Given the description of an element on the screen output the (x, y) to click on. 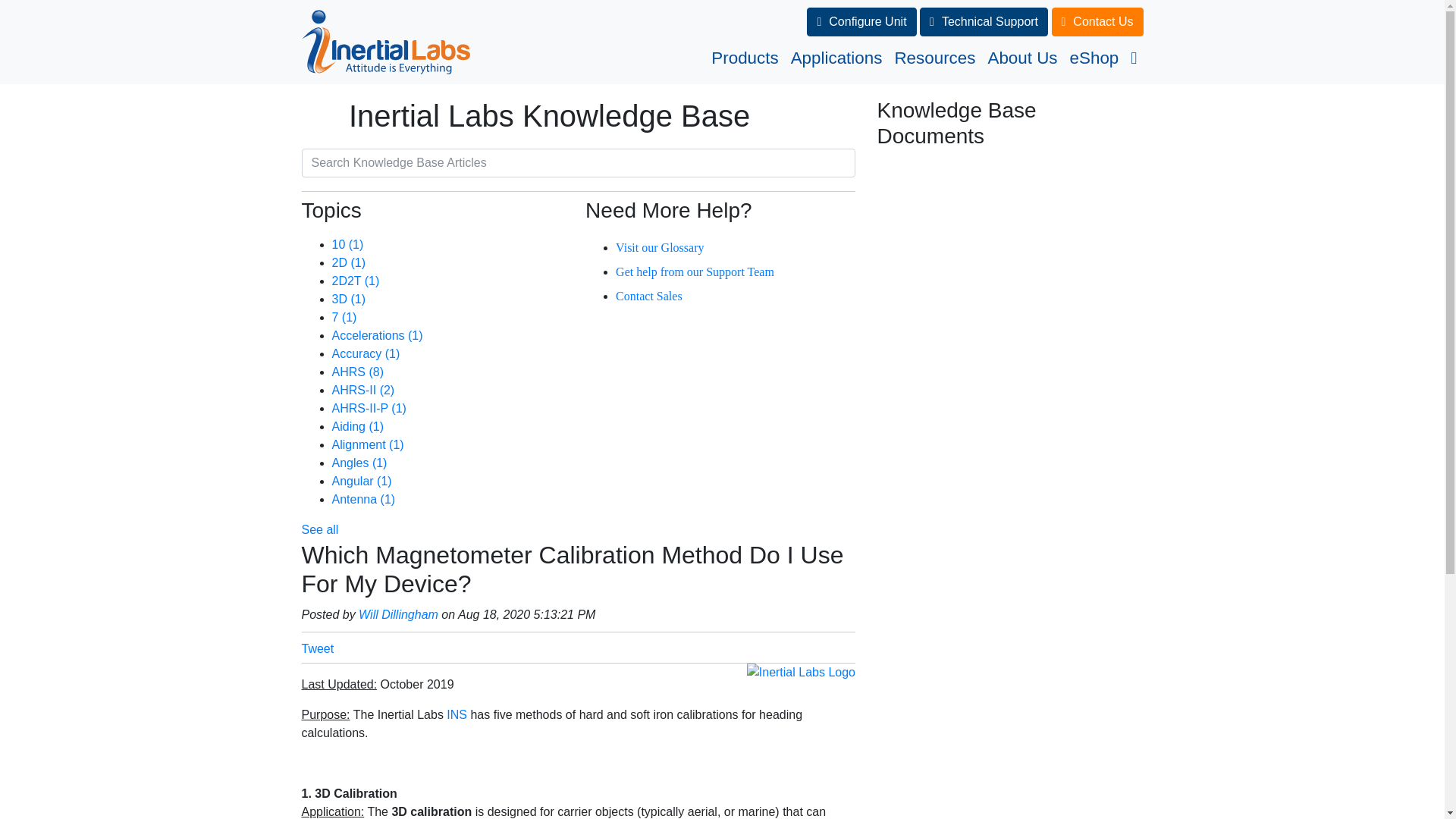
Applications (836, 57)
Products (744, 57)
Contact Us (1096, 21)
Resources (934, 57)
About Us (1021, 57)
eShop (1094, 57)
Configure Unit (860, 21)
Technical Support (984, 21)
